Given the description of an element on the screen output the (x, y) to click on. 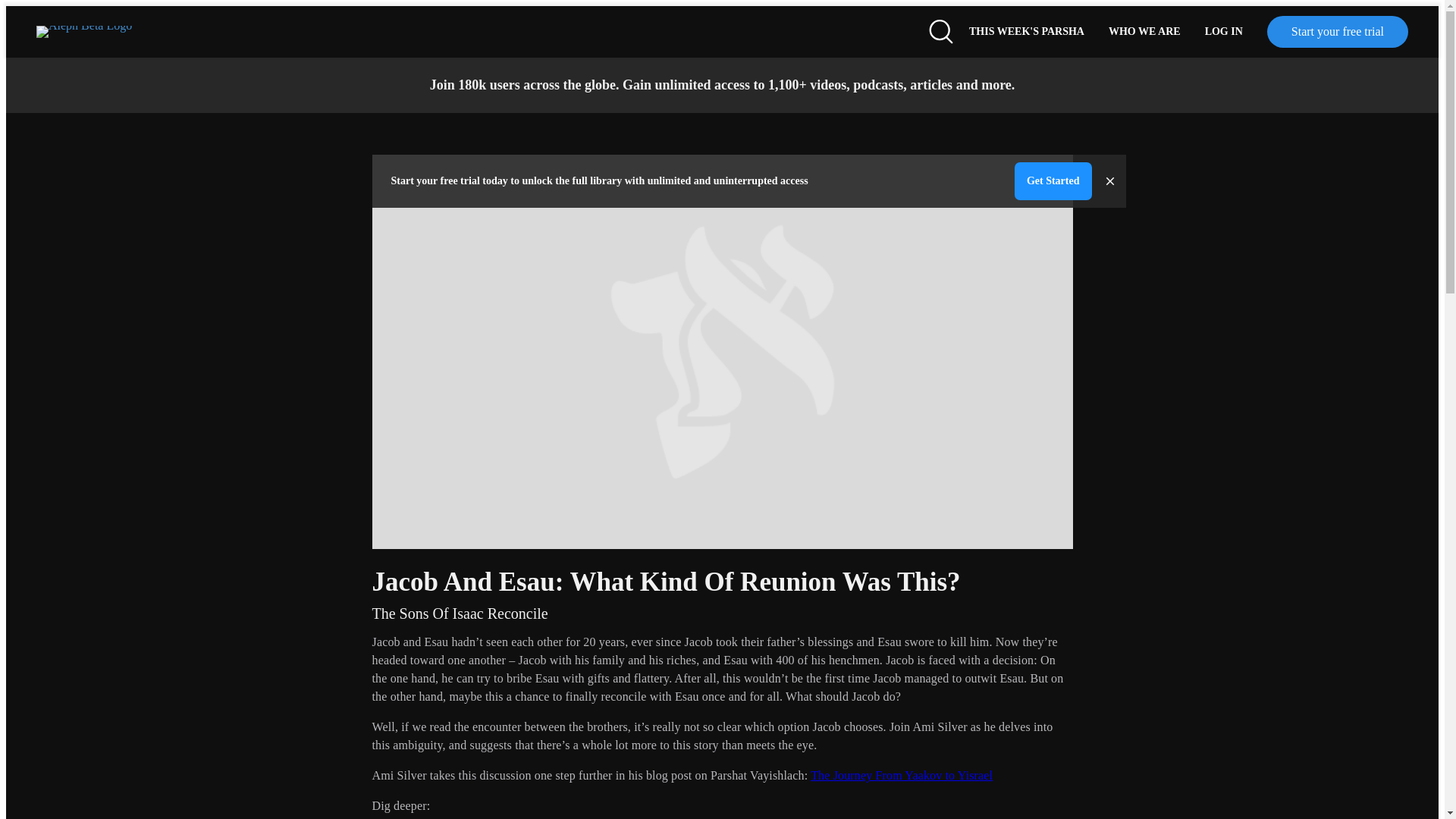
THIS WEEK'S PARSHA (1026, 31)
Start your free trial (1336, 31)
LOG IN (1223, 31)
WHO WE ARE (1144, 31)
The Journey From Yaakov to Yisrael (901, 775)
Get Started (1053, 180)
